Given the description of an element on the screen output the (x, y) to click on. 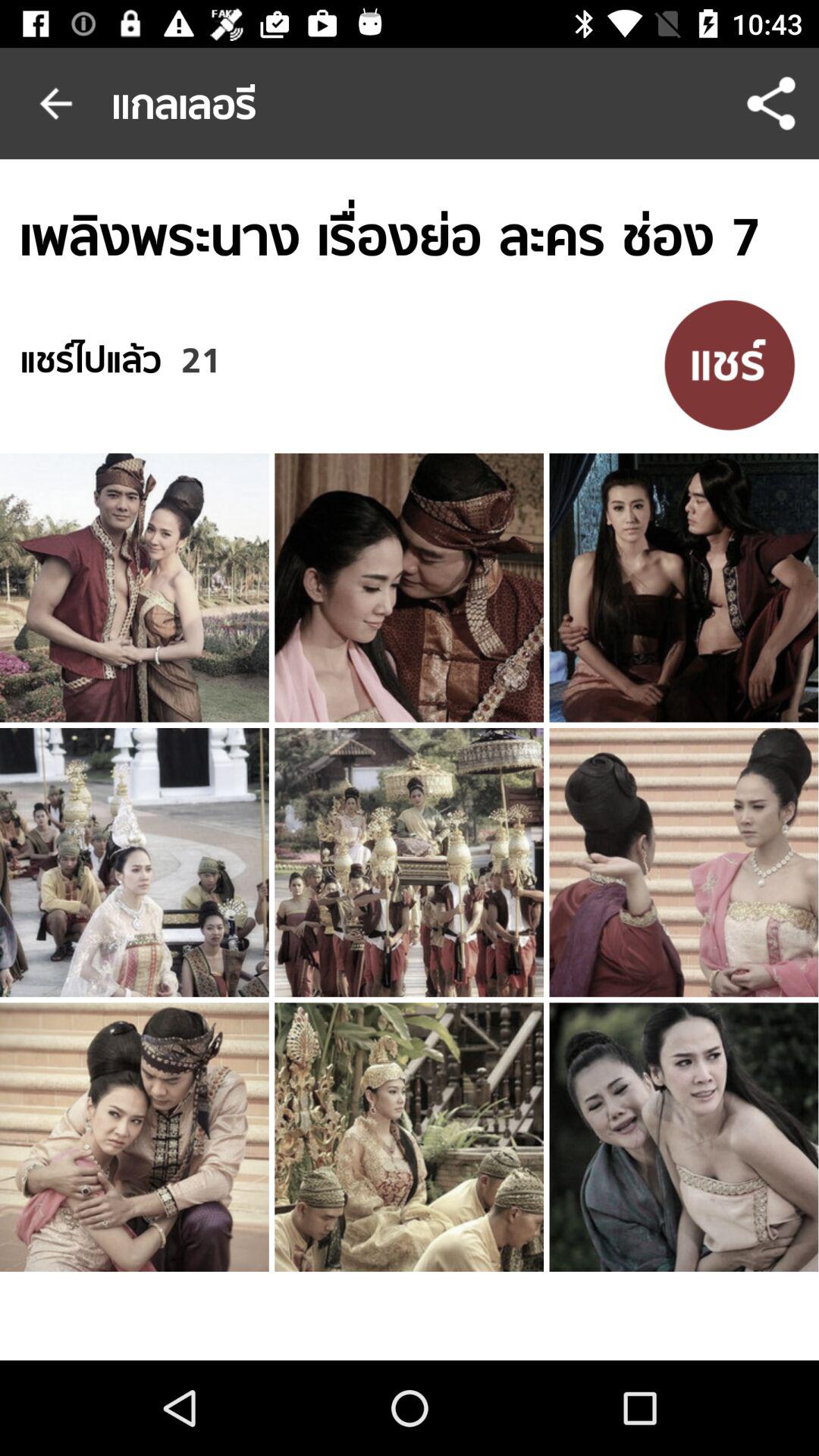
toggle additional photos (729, 363)
